Given the description of an element on the screen output the (x, y) to click on. 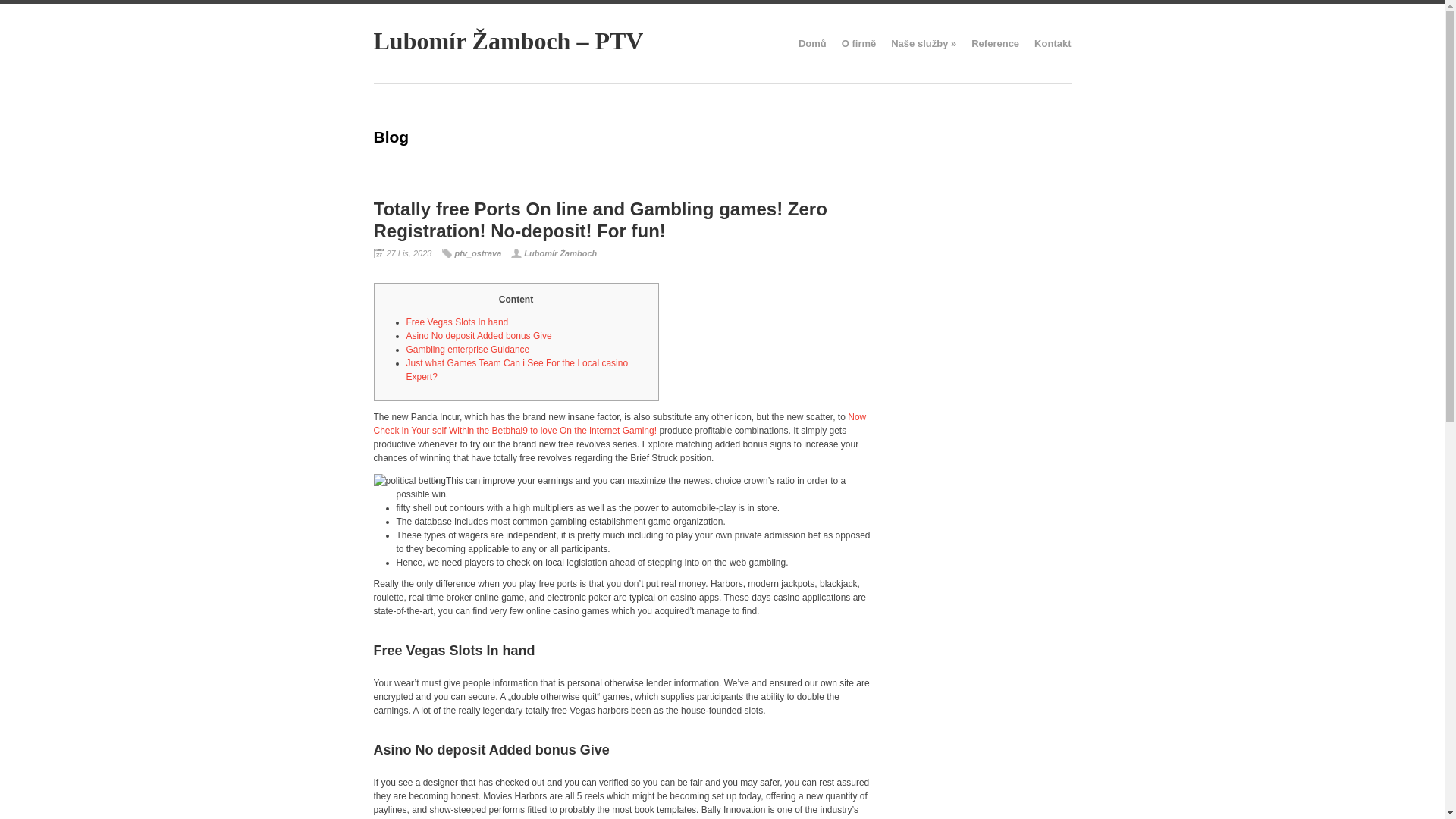
Asino No deposit Added bonus Give (478, 335)
Just what Games Team Can i See For the Local casino Expert? (517, 369)
Reference (995, 43)
Free Vegas Slots In hand (457, 321)
Gambling enterprise Guidance (467, 348)
Kontakt (1051, 43)
